Given the description of an element on the screen output the (x, y) to click on. 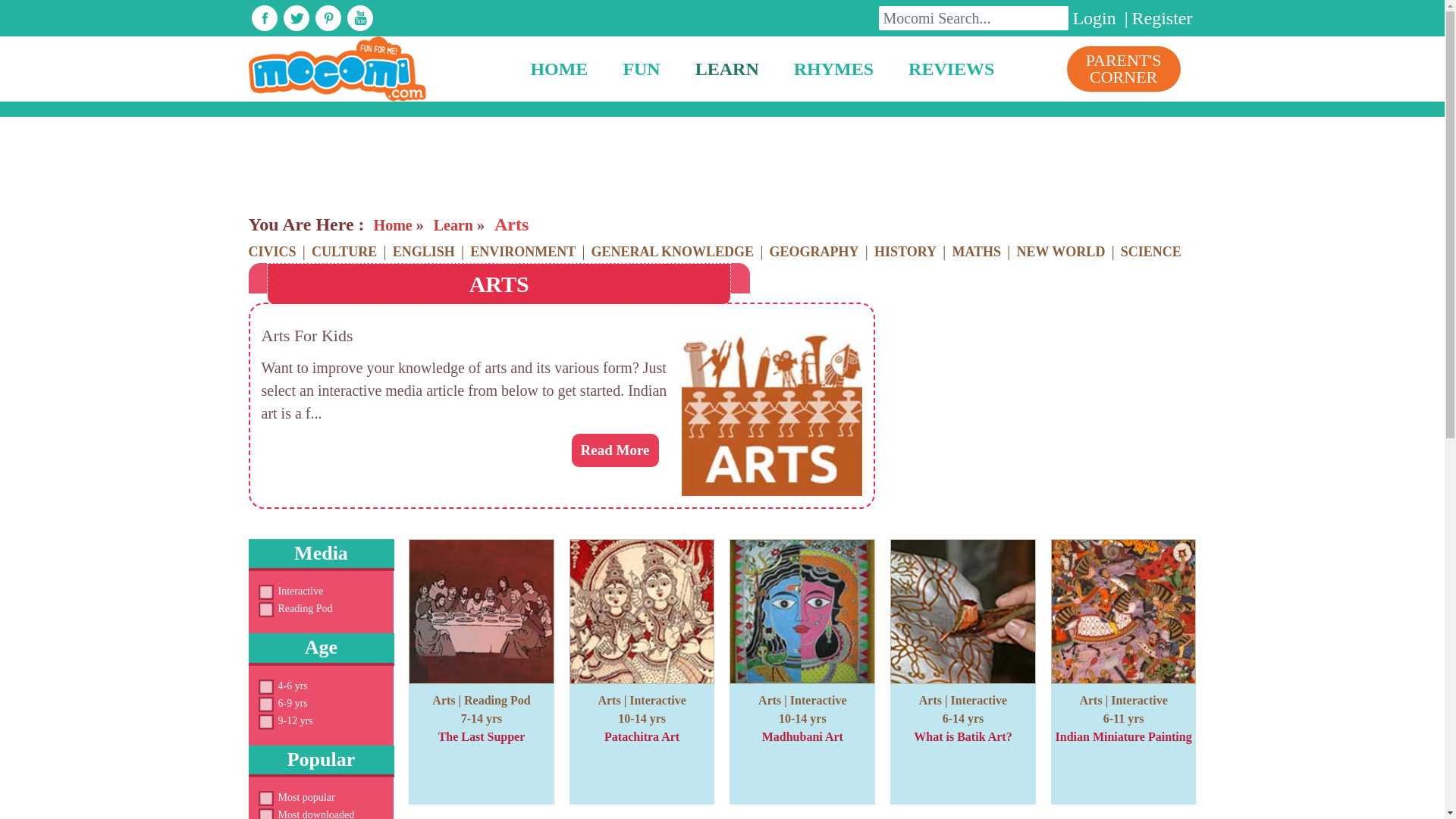
9-12 (264, 721)
Login (1093, 17)
Environment Category (522, 251)
HOME (558, 68)
378 (264, 592)
Maths Category (975, 251)
365 (264, 609)
most-popular (264, 798)
LEARN (726, 68)
Science Category (1151, 251)
